Given the description of an element on the screen output the (x, y) to click on. 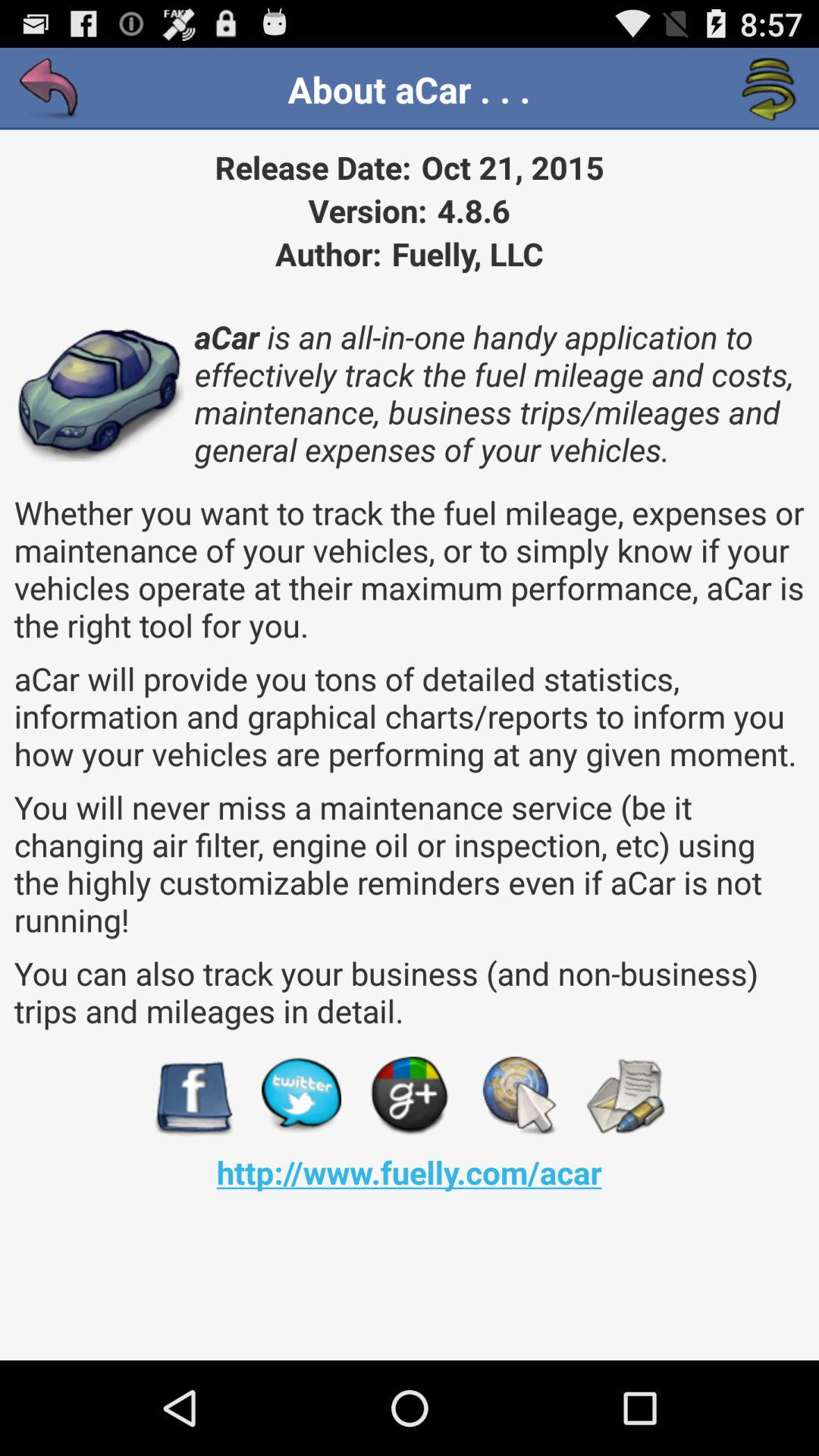
flip to http www fuelly app (408, 1171)
